Given the description of an element on the screen output the (x, y) to click on. 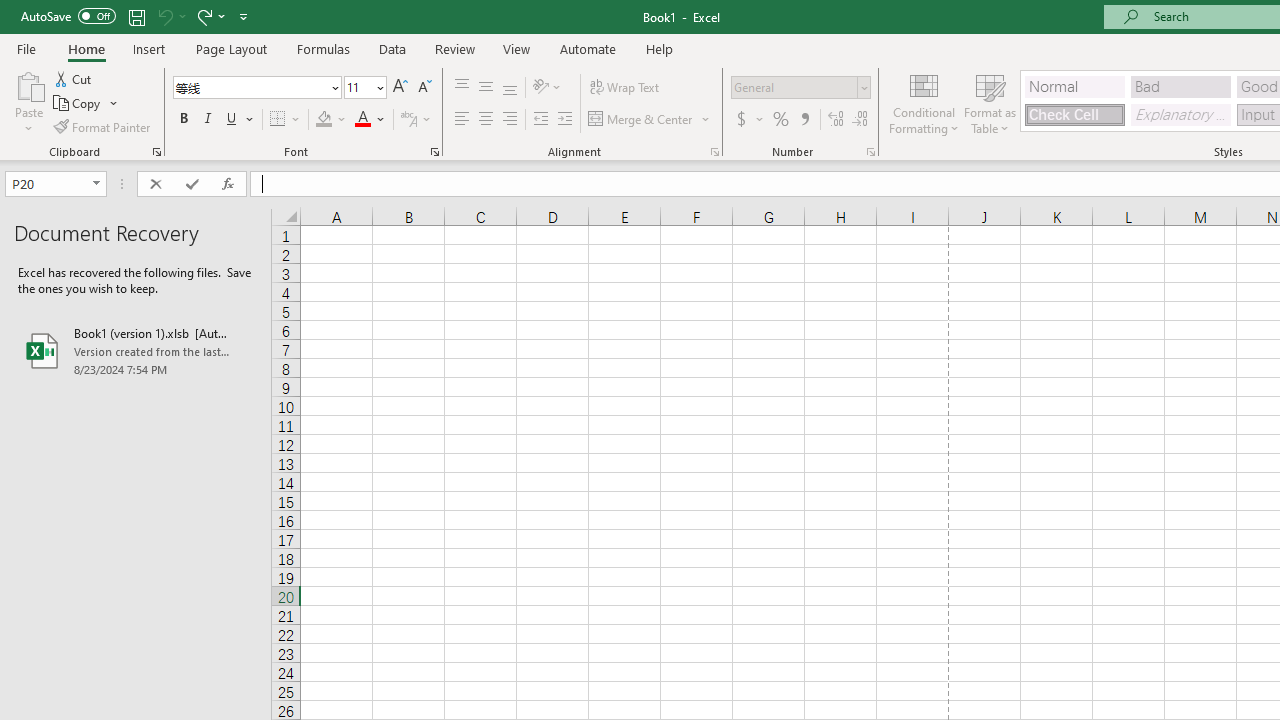
Wrap Text (624, 87)
Cut (73, 78)
Middle Align (485, 87)
Copy (85, 103)
Font Size (358, 87)
Book1 (version 1).xlsb  [AutoRecovered] (136, 350)
Align Right (509, 119)
Bold (183, 119)
Show Phonetic Field (416, 119)
Office Clipboard... (156, 151)
Bad (1180, 86)
